Given the description of an element on the screen output the (x, y) to click on. 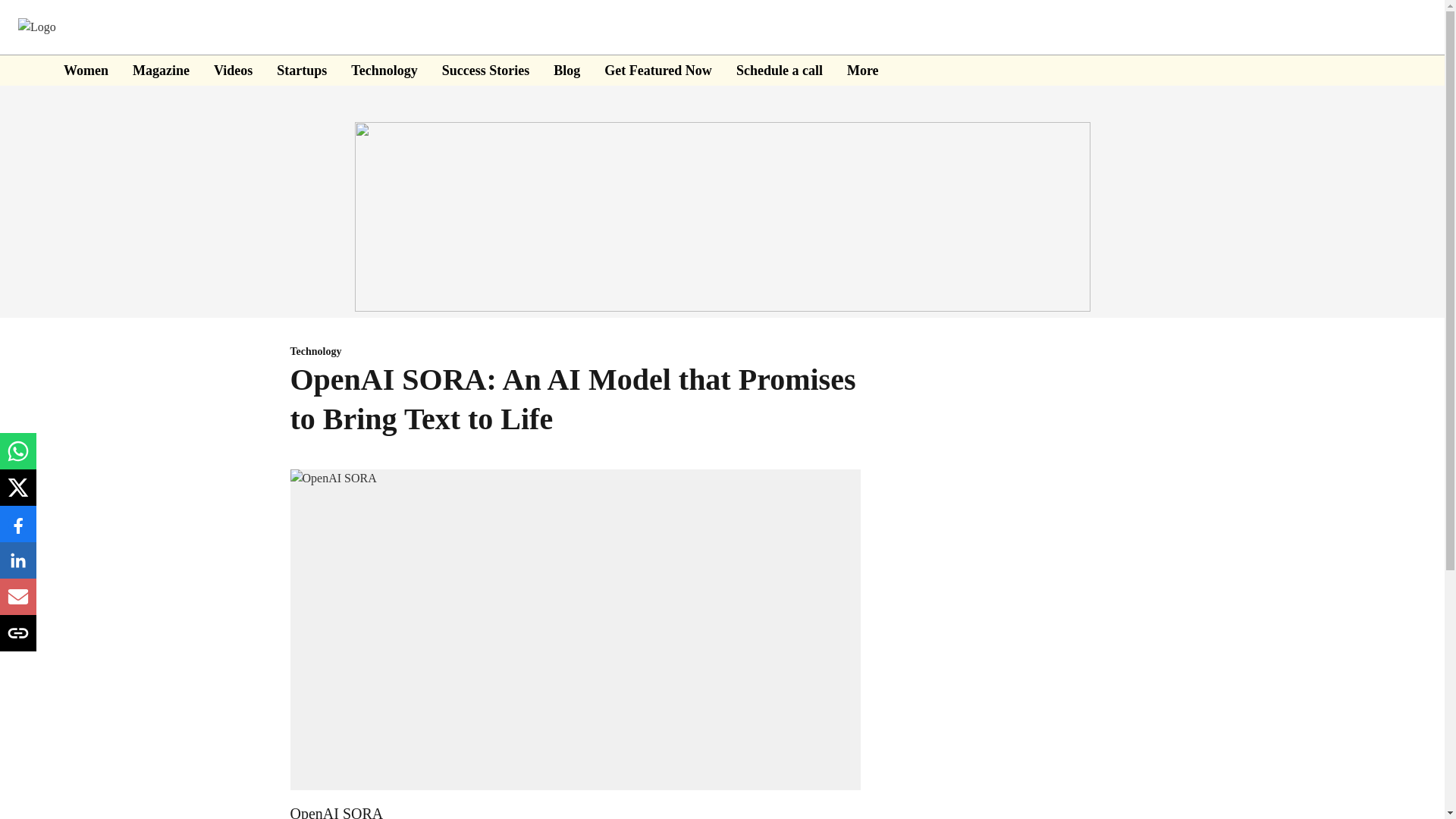
Women (85, 70)
Videos (232, 70)
Technology (383, 70)
Technology (574, 351)
Blog (566, 70)
Magazine (160, 70)
Success Stories (485, 70)
Startups (301, 70)
Get Featured Now (657, 70)
